Given the description of an element on the screen output the (x, y) to click on. 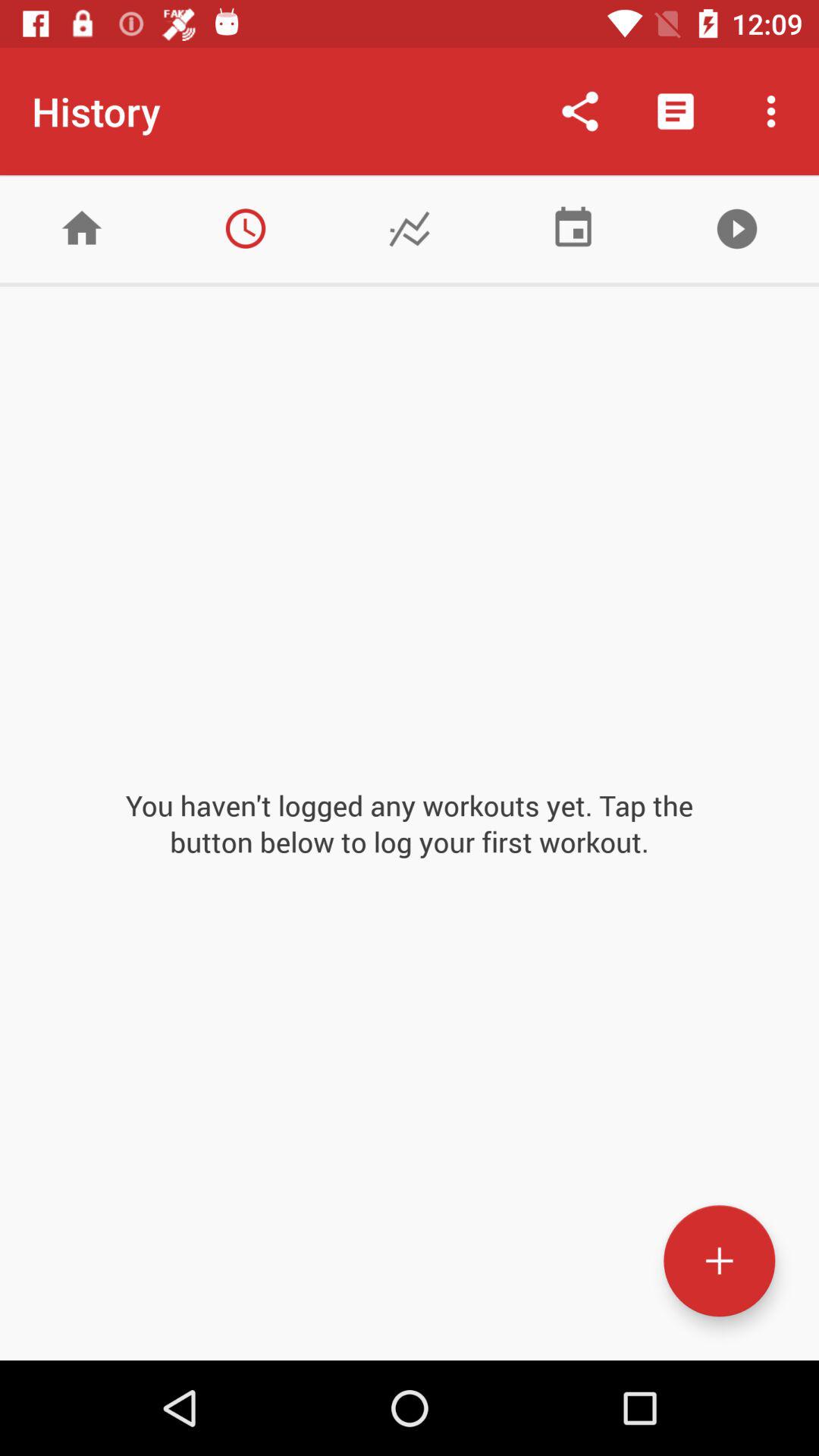
add workout entry (719, 1260)
